Given the description of an element on the screen output the (x, y) to click on. 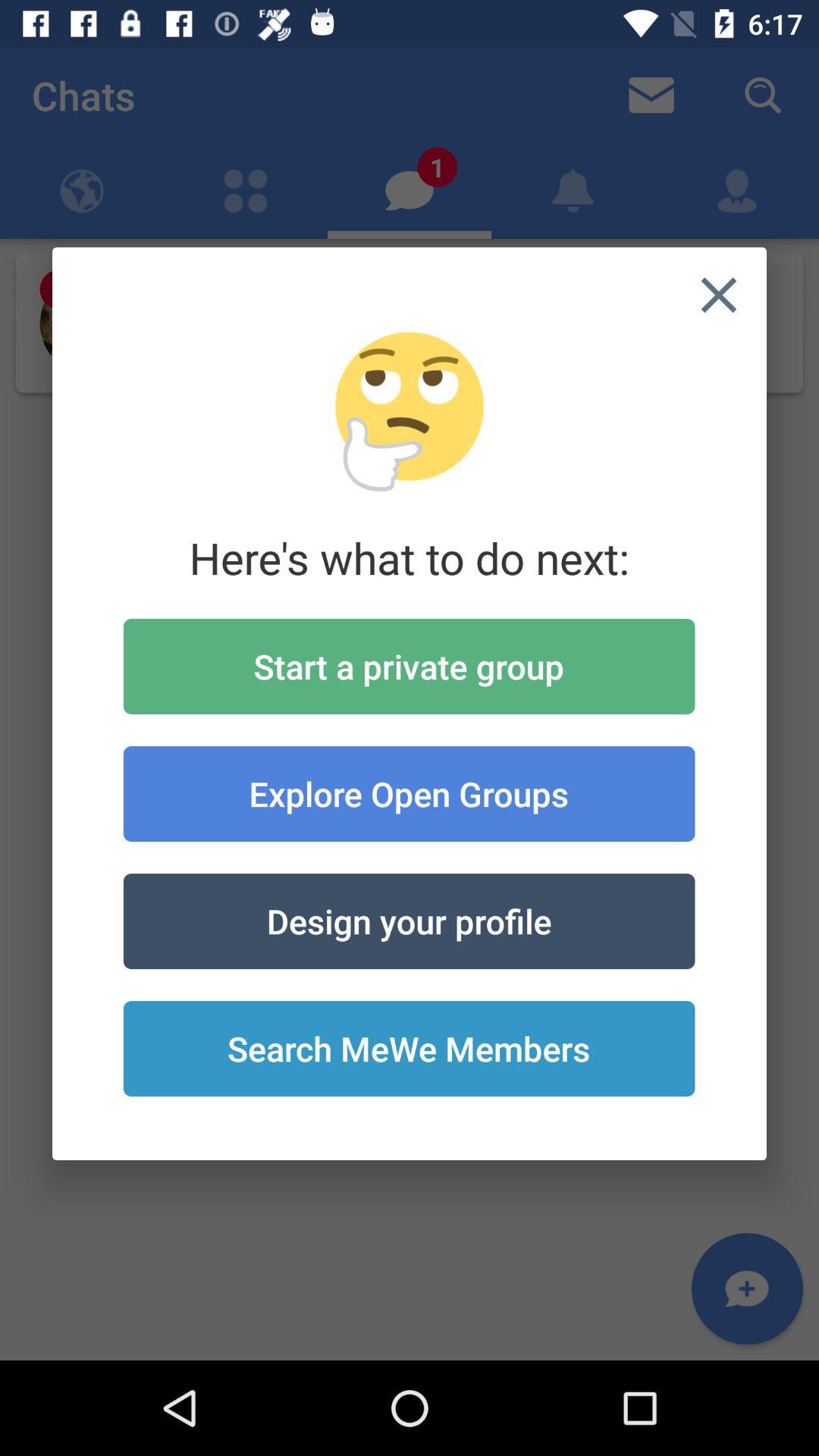
tap the icon at the bottom (409, 1048)
